Given the description of an element on the screen output the (x, y) to click on. 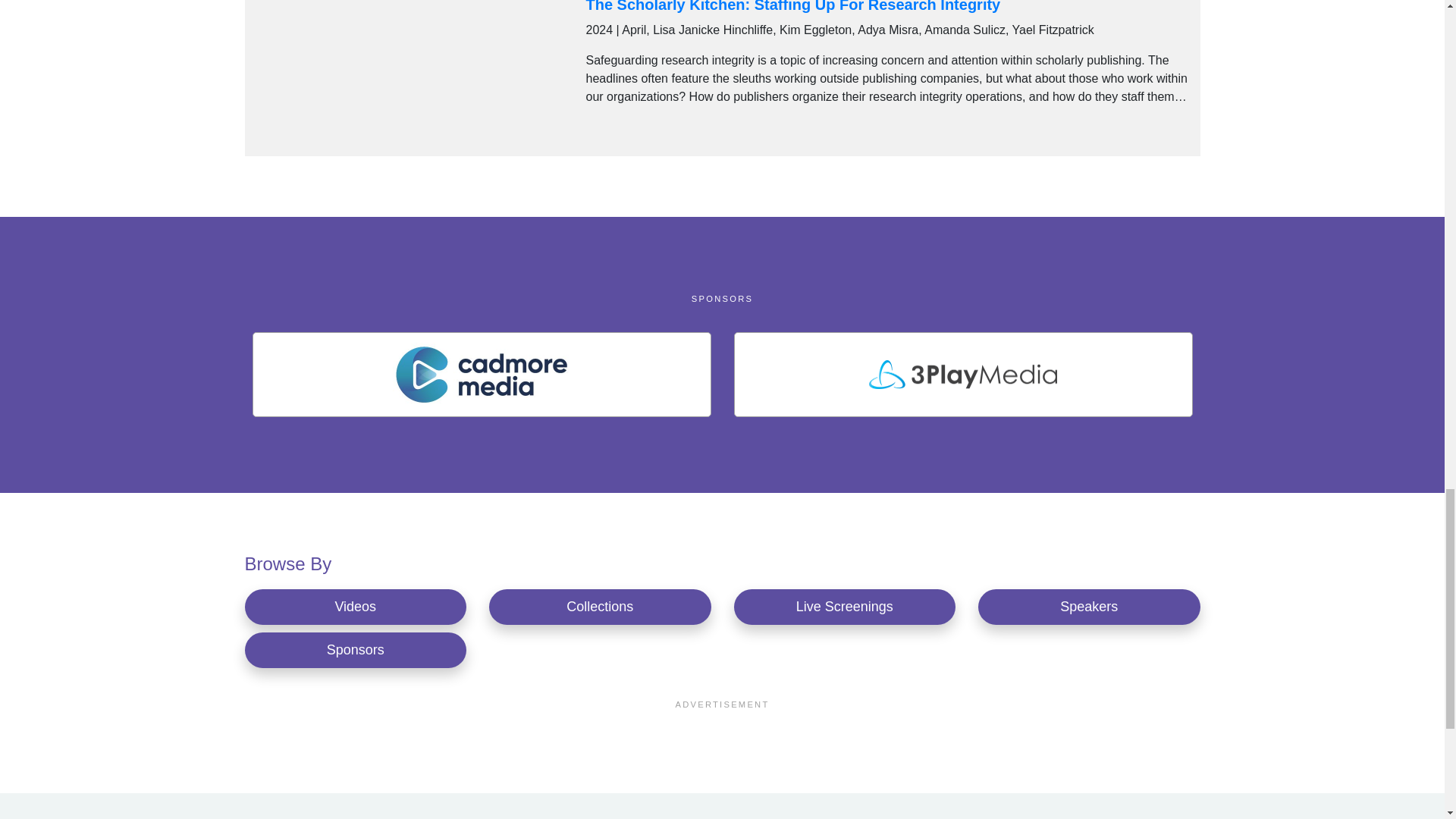
Sponsors (354, 650)
Videos (354, 606)
The Scholarly Kitchen: Staffing Up For Research Integrity (792, 6)
Speakers (1088, 606)
Live Screenings (844, 606)
Collections (600, 606)
